Given the description of an element on the screen output the (x, y) to click on. 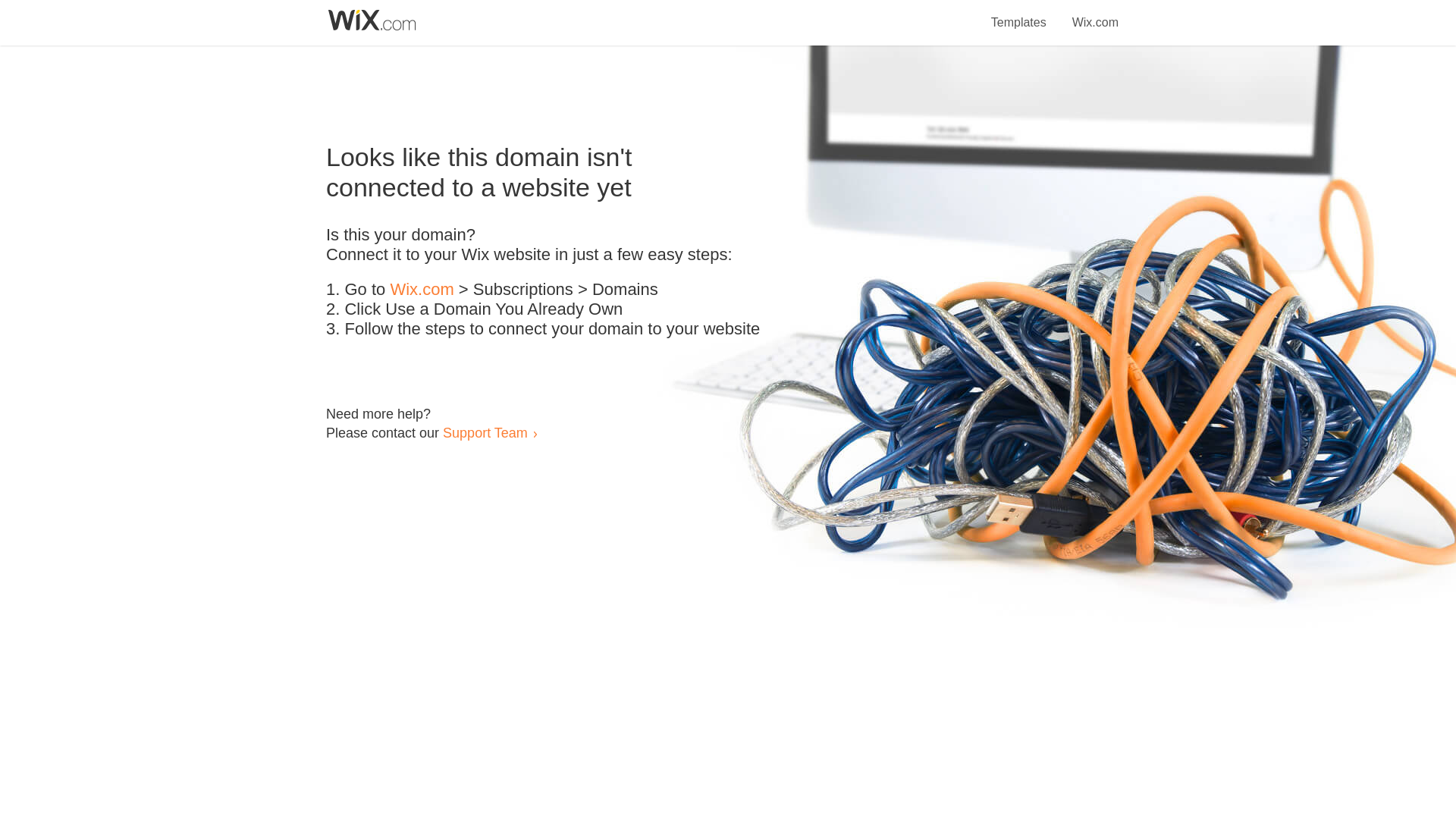
Templates (1018, 14)
Wix.com (1095, 14)
Wix.com (421, 289)
Support Team (484, 432)
